Given the description of an element on the screen output the (x, y) to click on. 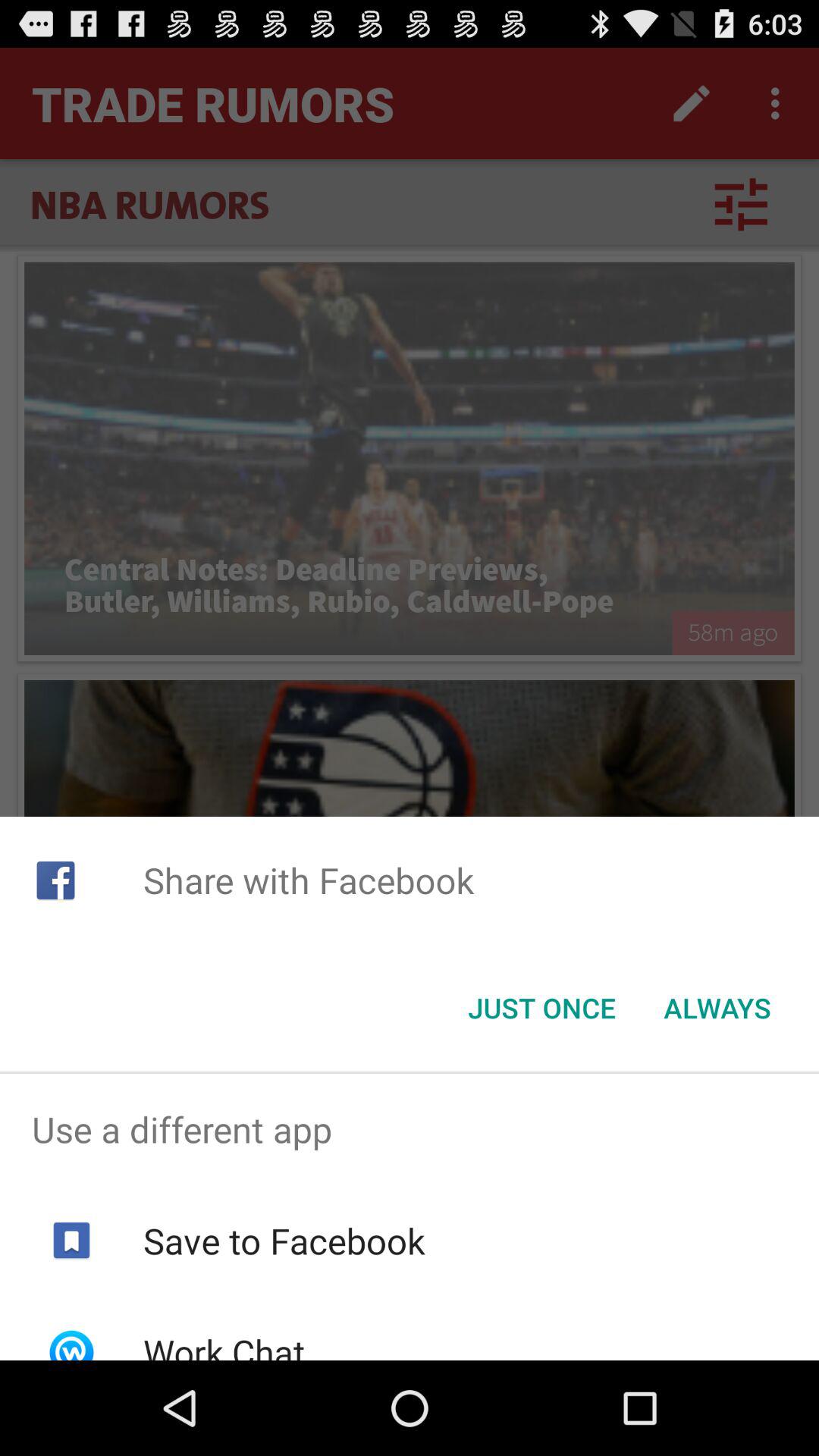
choose the just once icon (541, 1007)
